Given the description of an element on the screen output the (x, y) to click on. 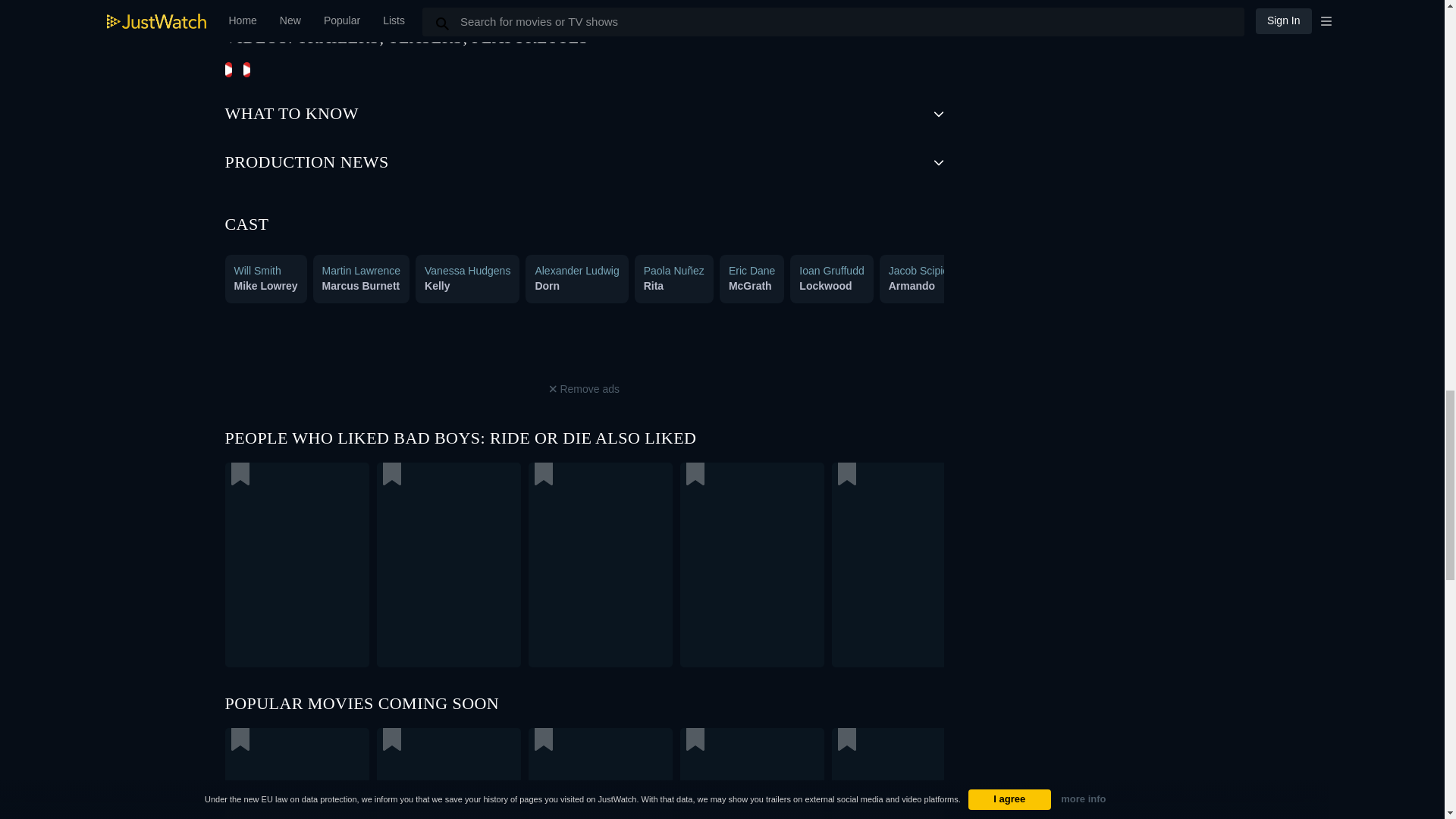
McGrath (750, 285)
Lockwood (825, 285)
Kelly (437, 285)
Captain Howard (1403, 285)
Dorn (546, 285)
Armando (911, 285)
Christine (995, 285)
Marcus Burnett (360, 285)
Tabitha (1284, 285)
Mike Lowrey (264, 285)
Judy (1184, 285)
Rita (653, 285)
Theresa Burnett (1107, 285)
